Given the description of an element on the screen output the (x, y) to click on. 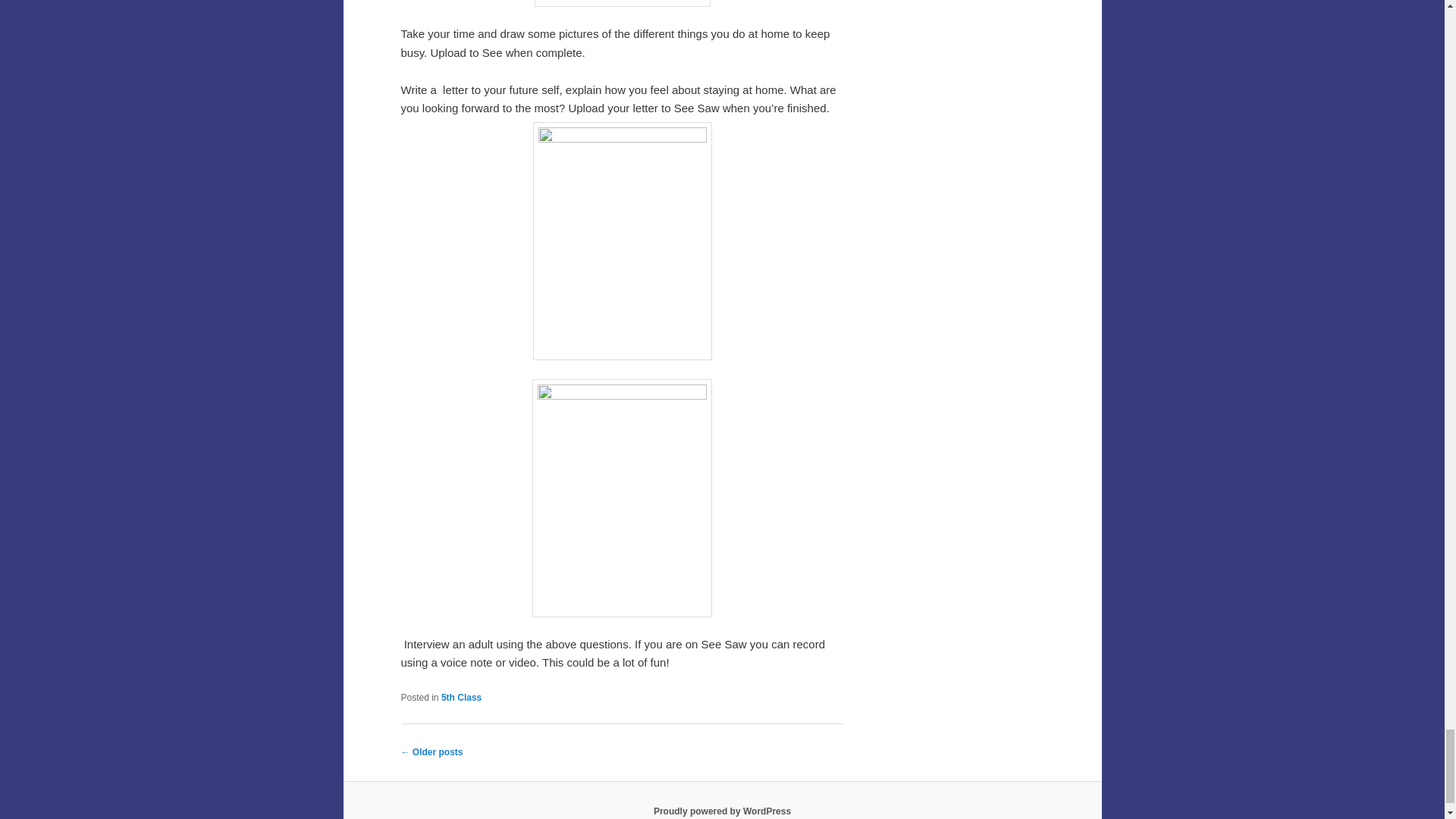
Semantic Personal Publishing Platform (721, 810)
